Given the description of an element on the screen output the (x, y) to click on. 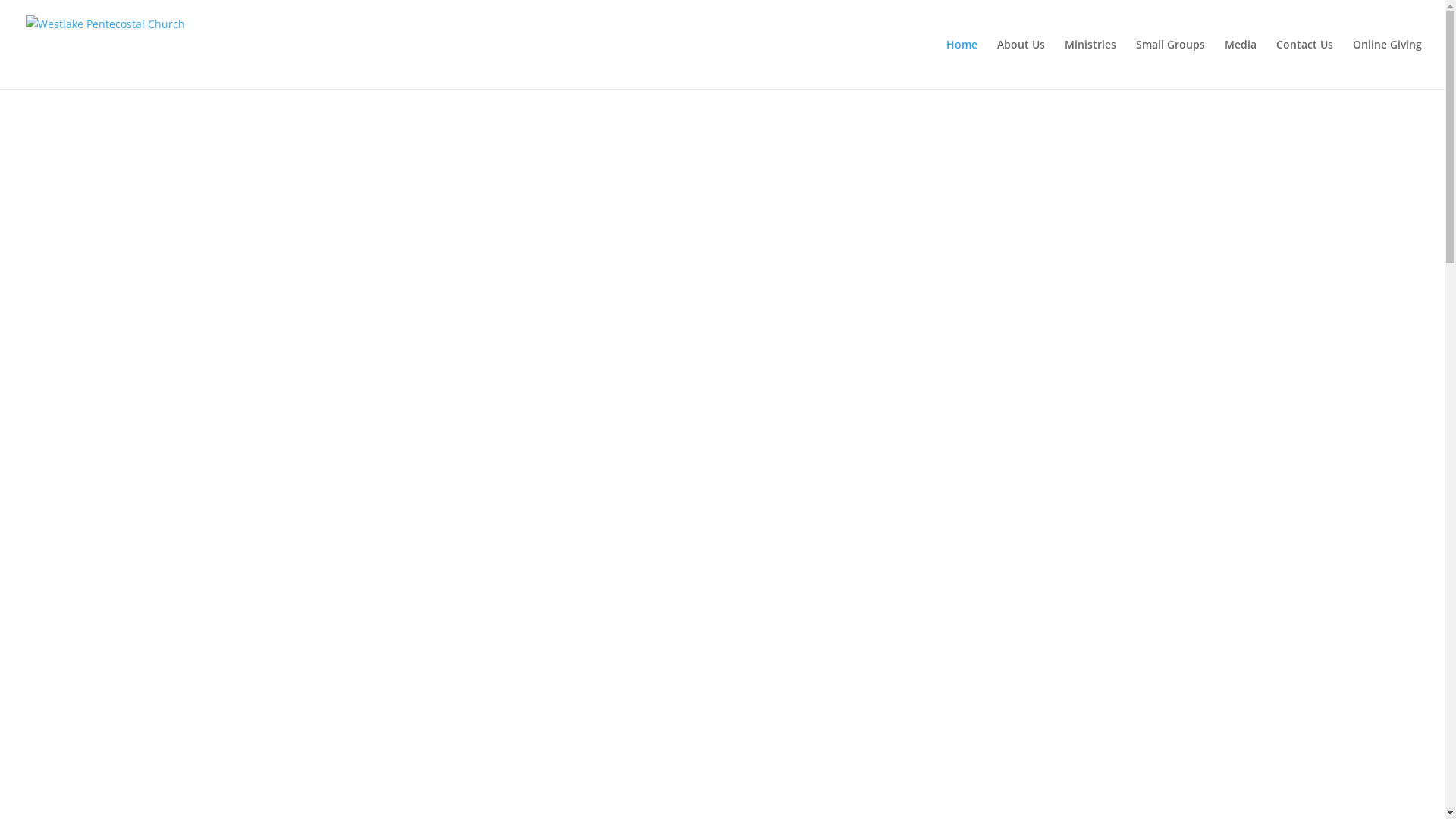
Ministries Element type: text (1090, 64)
Small Groups Element type: text (1169, 64)
Home Element type: text (961, 64)
About Us Element type: text (1020, 64)
Contact Us Element type: text (1304, 64)
Media Element type: text (1240, 64)
Online Giving Element type: text (1386, 64)
